Given the description of an element on the screen output the (x, y) to click on. 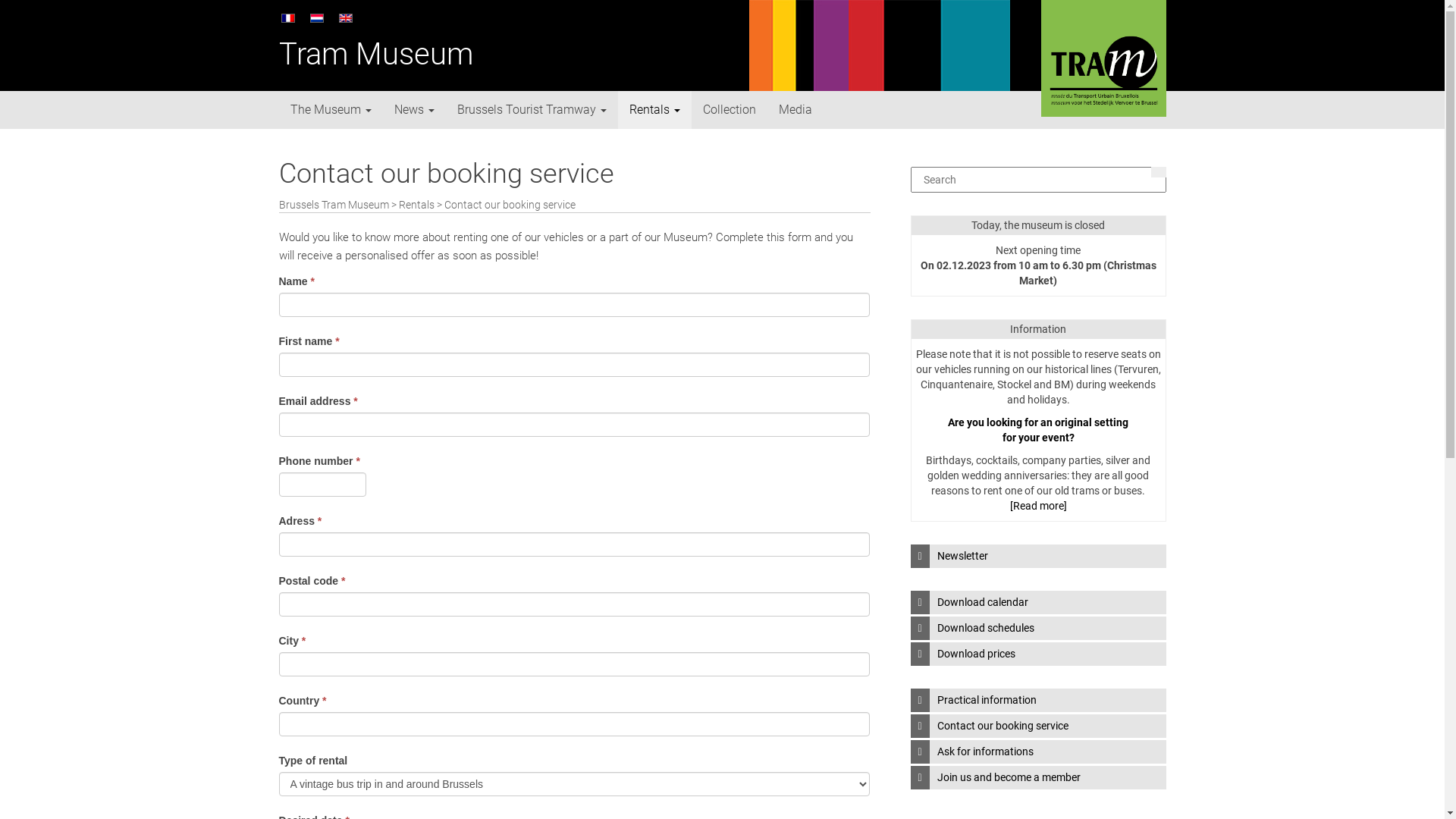
Are you looking for an original setting
for your event? Element type: text (1037, 429)
Brussels Tram Museum Element type: text (334, 204)
Download calendar Element type: text (1037, 602)
Download schedules Element type: text (1037, 628)
Rentals Element type: text (653, 109)
Rentals Element type: text (416, 204)
Practical information Element type: text (1037, 700)
Brussels Tourist Tramway Element type: text (531, 109)
Ask for informations Element type: text (1037, 751)
The Museum Element type: text (330, 109)
Download prices Element type: text (1037, 653)
Tram Museum Element type: text (376, 54)
Join us and become a member Element type: text (1037, 777)
Contact our booking service Element type: text (1037, 725)
News Element type: text (413, 109)
[Read more] Element type: text (1038, 505)
Collection Element type: text (729, 109)
Media Element type: text (795, 109)
Newsletter Element type: text (1037, 555)
